Given the description of an element on the screen output the (x, y) to click on. 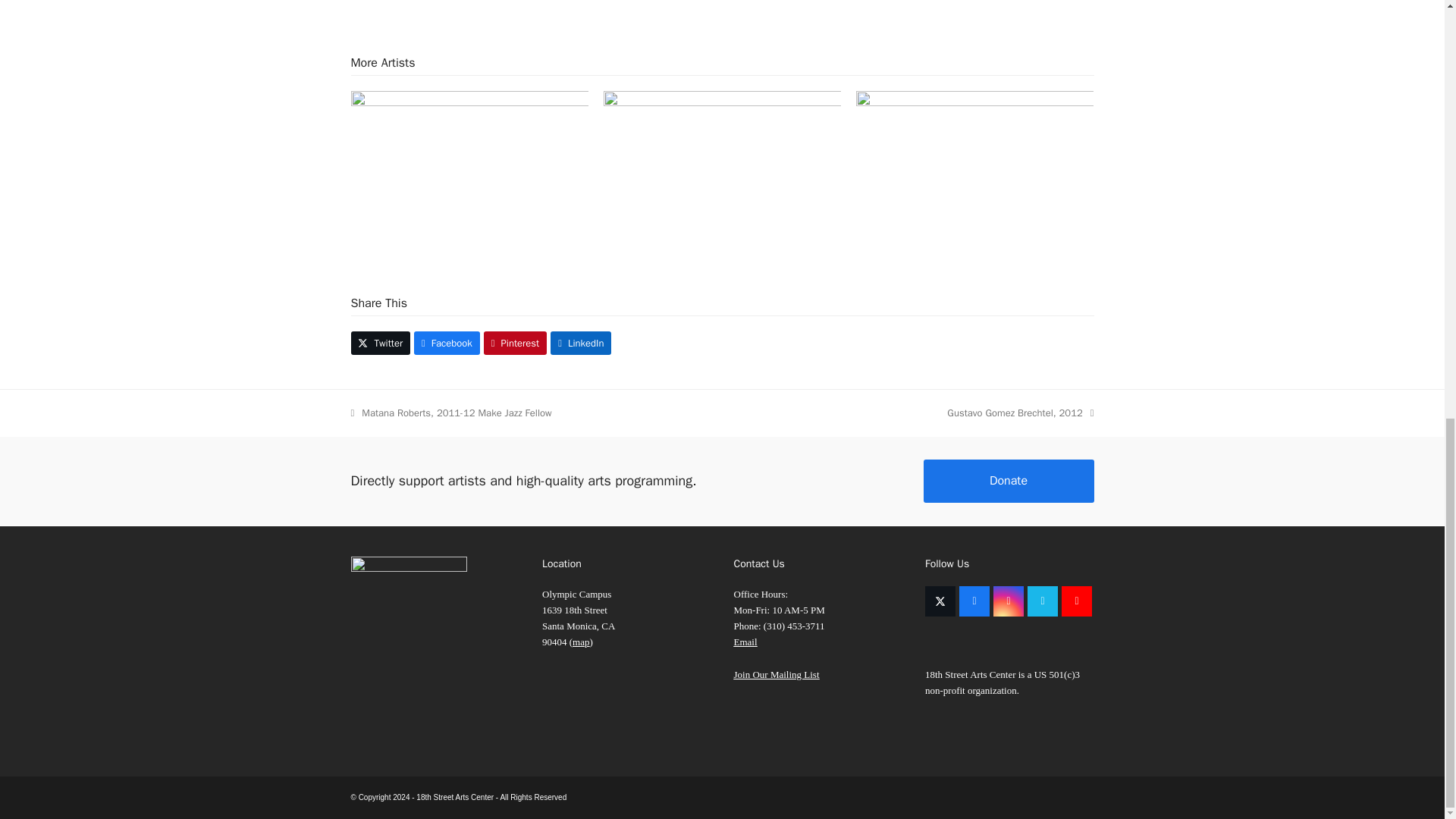
Jared Haug  February 2024 (974, 169)
Stella McGarvey  April 2024 (469, 169)
Instagram (1007, 601)
Facebook (974, 601)
Pinterest (515, 342)
Vimeo (1042, 601)
Twitter (380, 342)
Facebook (446, 342)
YouTube (1076, 601)
